Given the description of an element on the screen output the (x, y) to click on. 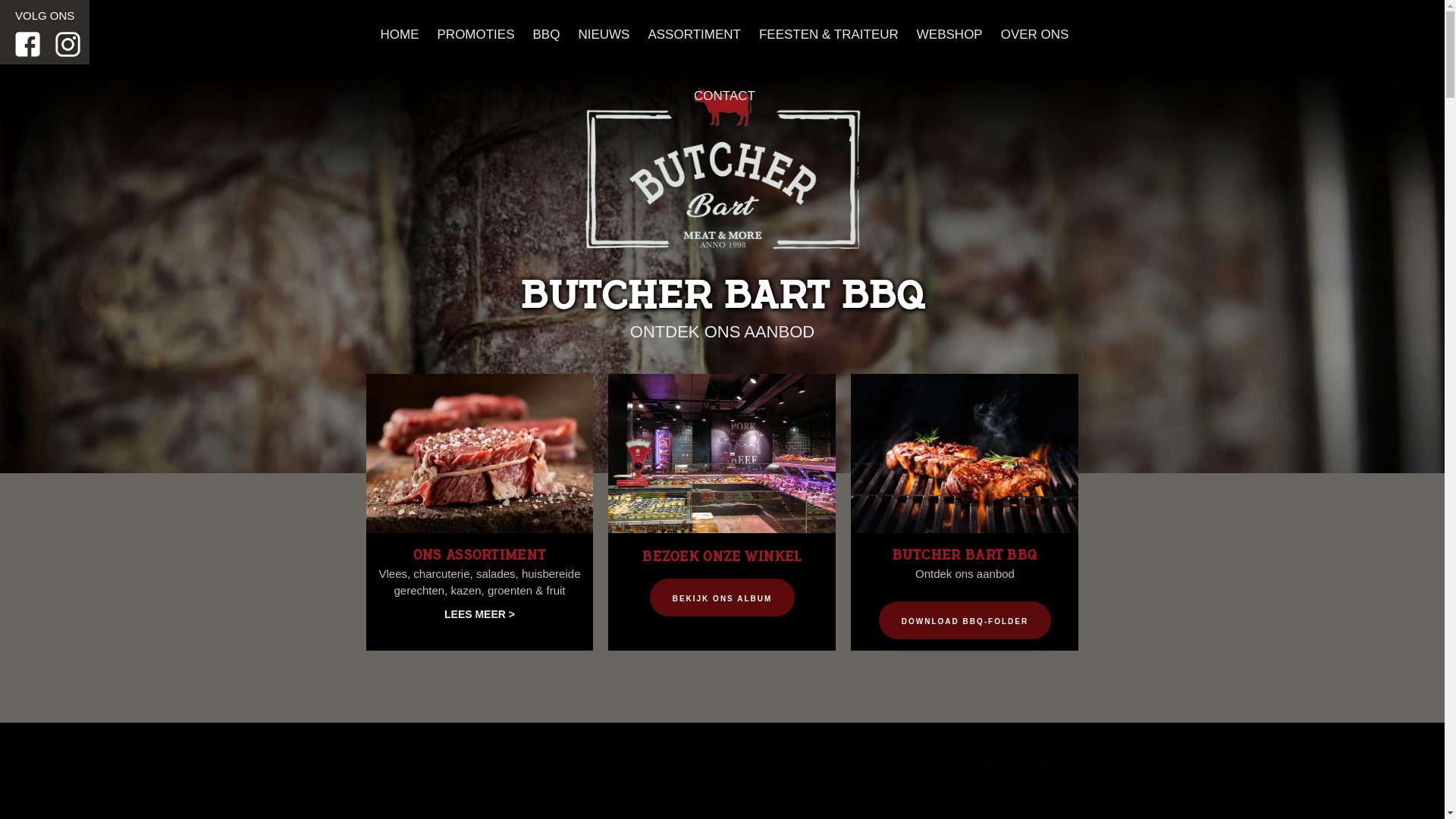
BBQ Element type: text (544, 30)
WEBSHOP Element type: text (947, 30)
CONTACT Element type: text (722, 91)
OVER ONS Element type: text (1032, 30)
ASSORTIMENT Element type: text (691, 30)
HOME Element type: text (397, 30)
FEESTEN & TRAITEUR Element type: text (826, 30)
NIEUWS Element type: text (601, 30)
DOWNLOAD BBQ-FOLDER Element type: text (964, 620)
PROMOTIES Element type: text (473, 30)
LEES MEER > Element type: text (479, 617)
BEKIJK ONS ALBUM Element type: text (722, 597)
